Given the description of an element on the screen output the (x, y) to click on. 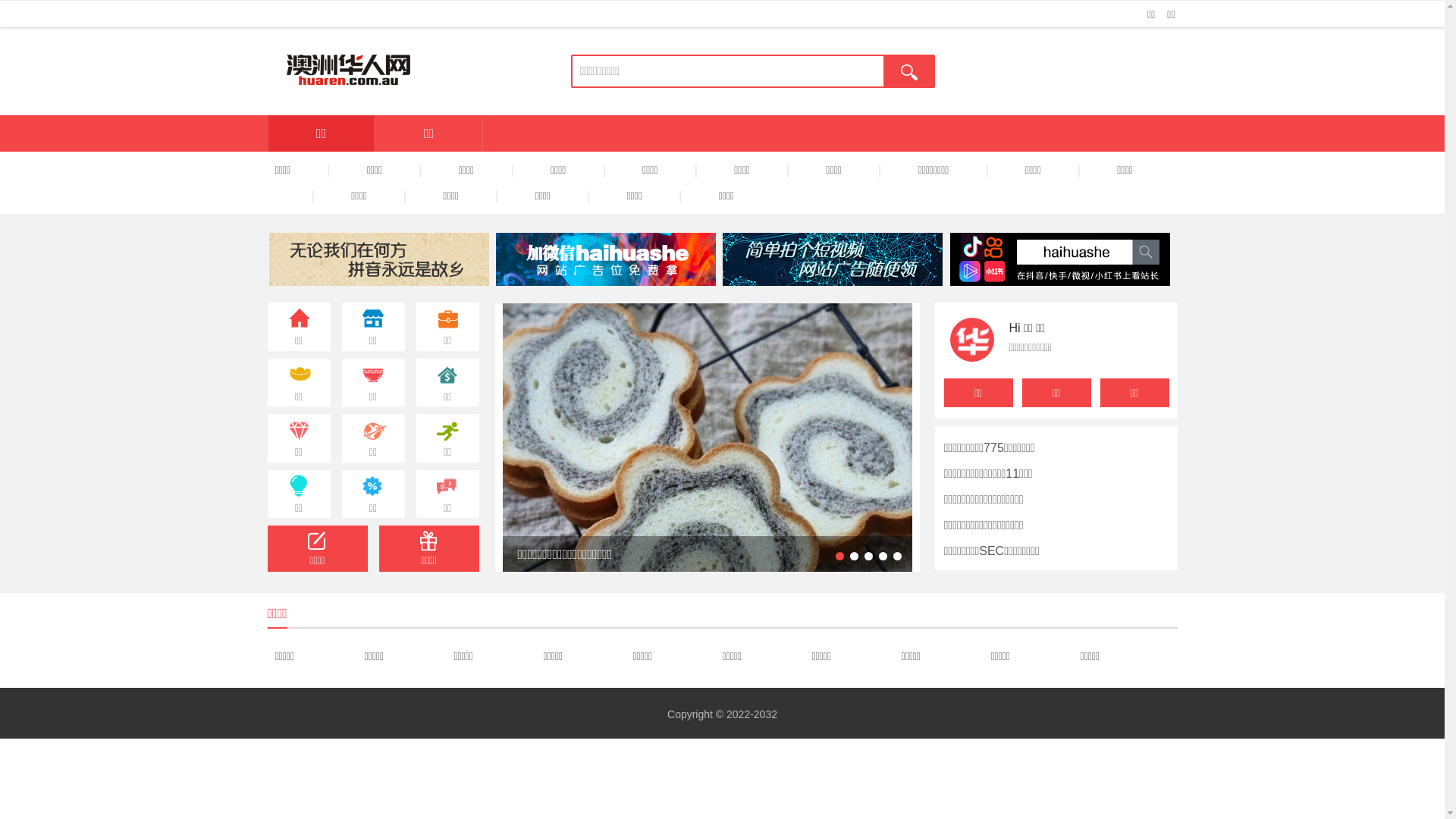
true Element type: text (909, 70)
